Given the description of an element on the screen output the (x, y) to click on. 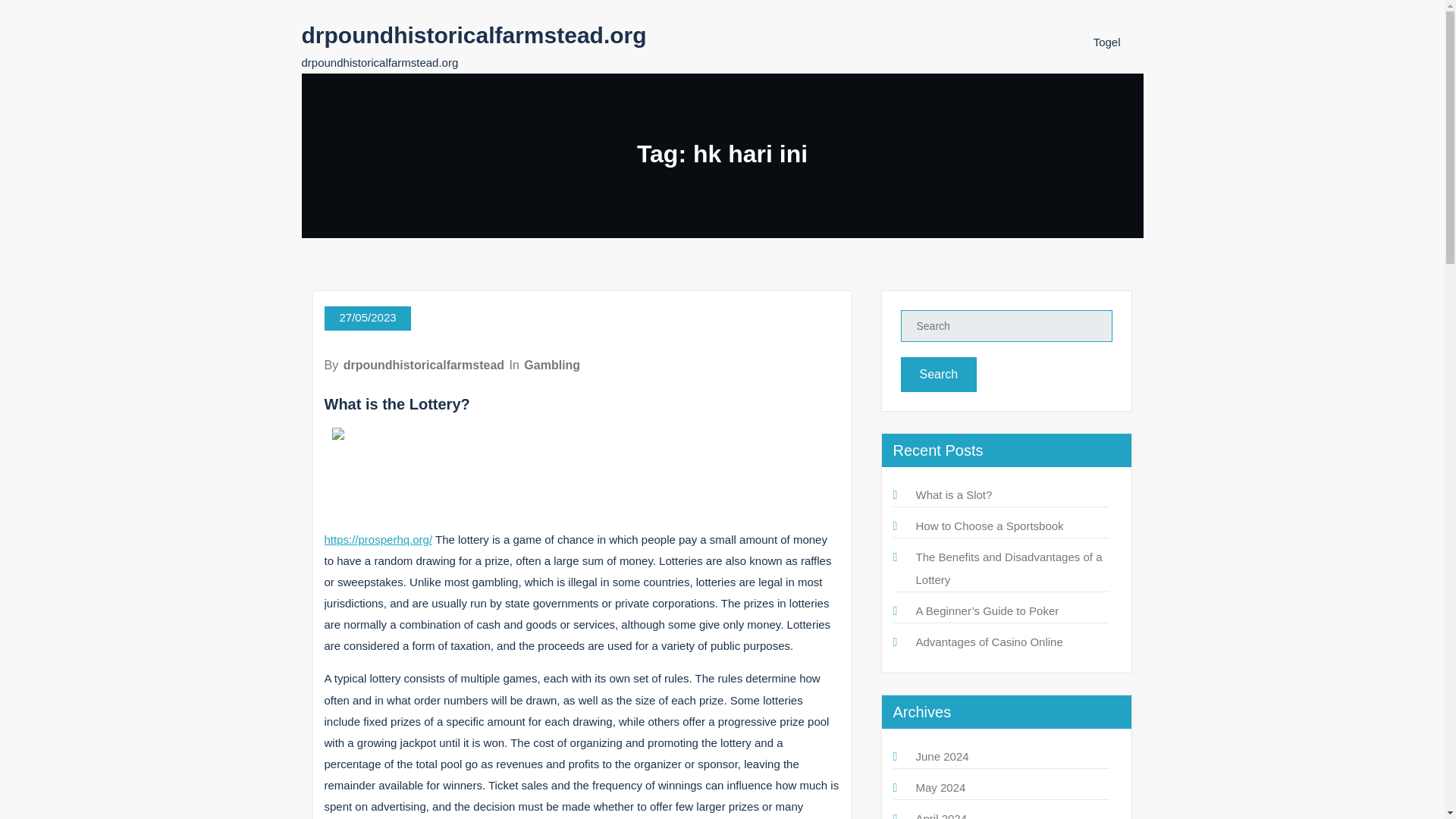
Search (938, 374)
drpoundhistoricalfarmstead.org (473, 34)
May 2024 (940, 787)
What is a Slot? (953, 494)
How to Choose a Sportsbook (989, 525)
Advantages of Casino Online (988, 641)
The Benefits and Disadvantages of a Lottery (1008, 568)
What is the Lottery? (397, 403)
Gambling (551, 364)
drpoundhistoricalfarmstead (423, 364)
June 2024 (942, 756)
April 2024 (941, 815)
